Given the description of an element on the screen output the (x, y) to click on. 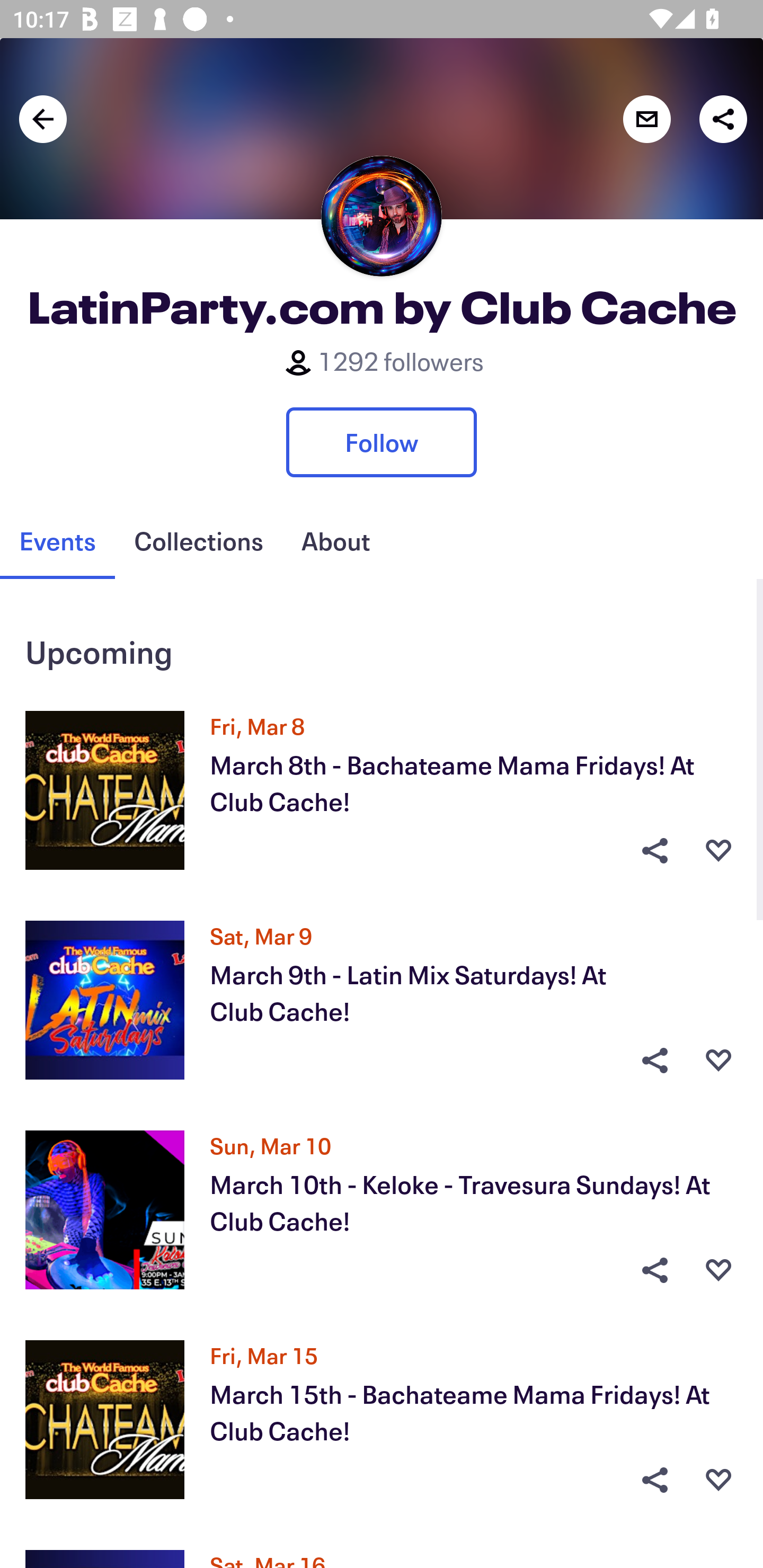
Back navigation arrow (43, 118)
Contact organizer (646, 118)
Share with friends (722, 118)
Follow (381, 441)
Collections (198, 540)
About (335, 540)
Share Event (654, 850)
Like event (718, 850)
Share Event (654, 1060)
Like event (718, 1060)
Share Event (654, 1269)
Like event (718, 1269)
Share Event (654, 1480)
Like event (718, 1480)
